Given the description of an element on the screen output the (x, y) to click on. 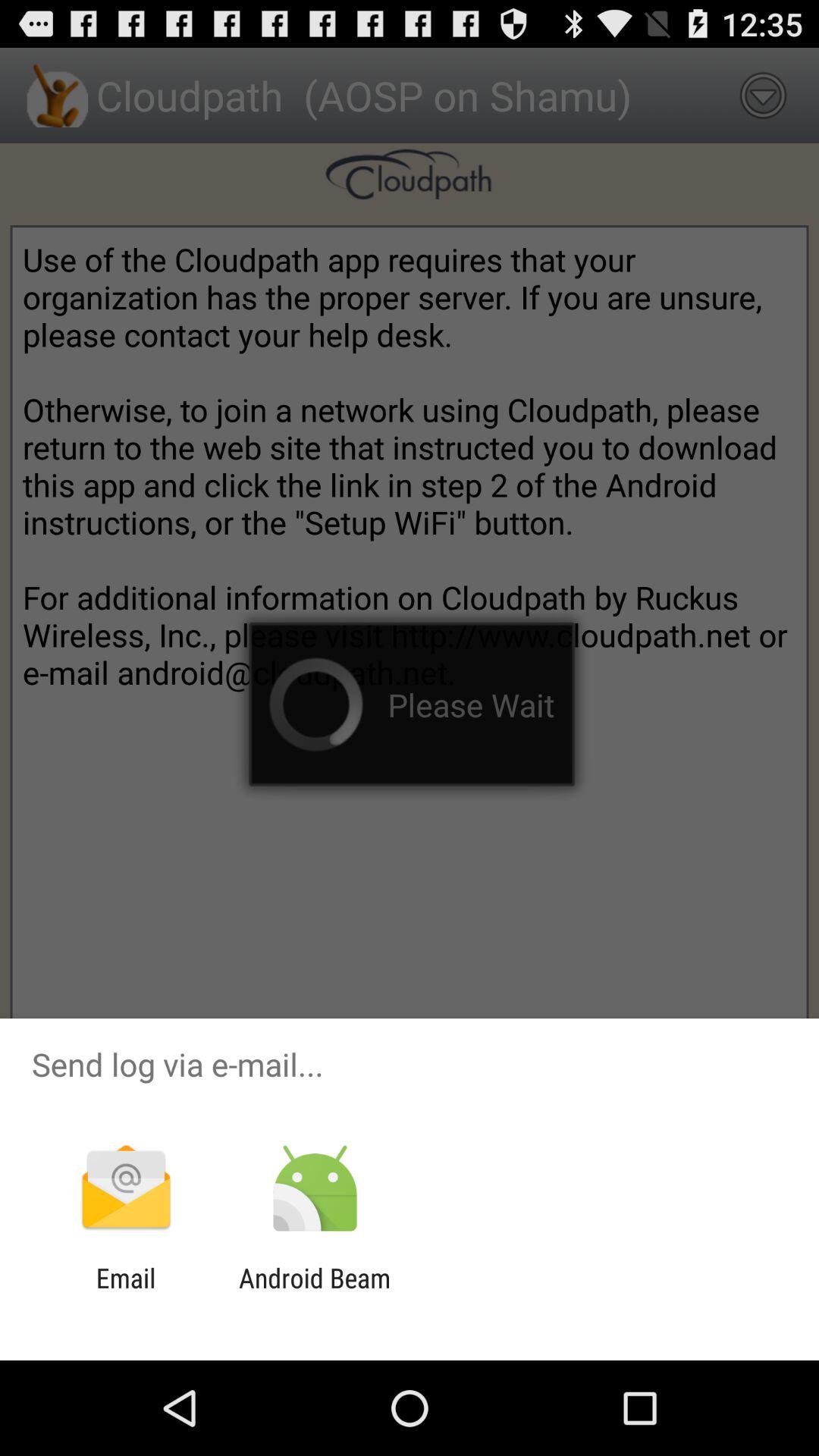
open the app next to android beam (125, 1293)
